Given the description of an element on the screen output the (x, y) to click on. 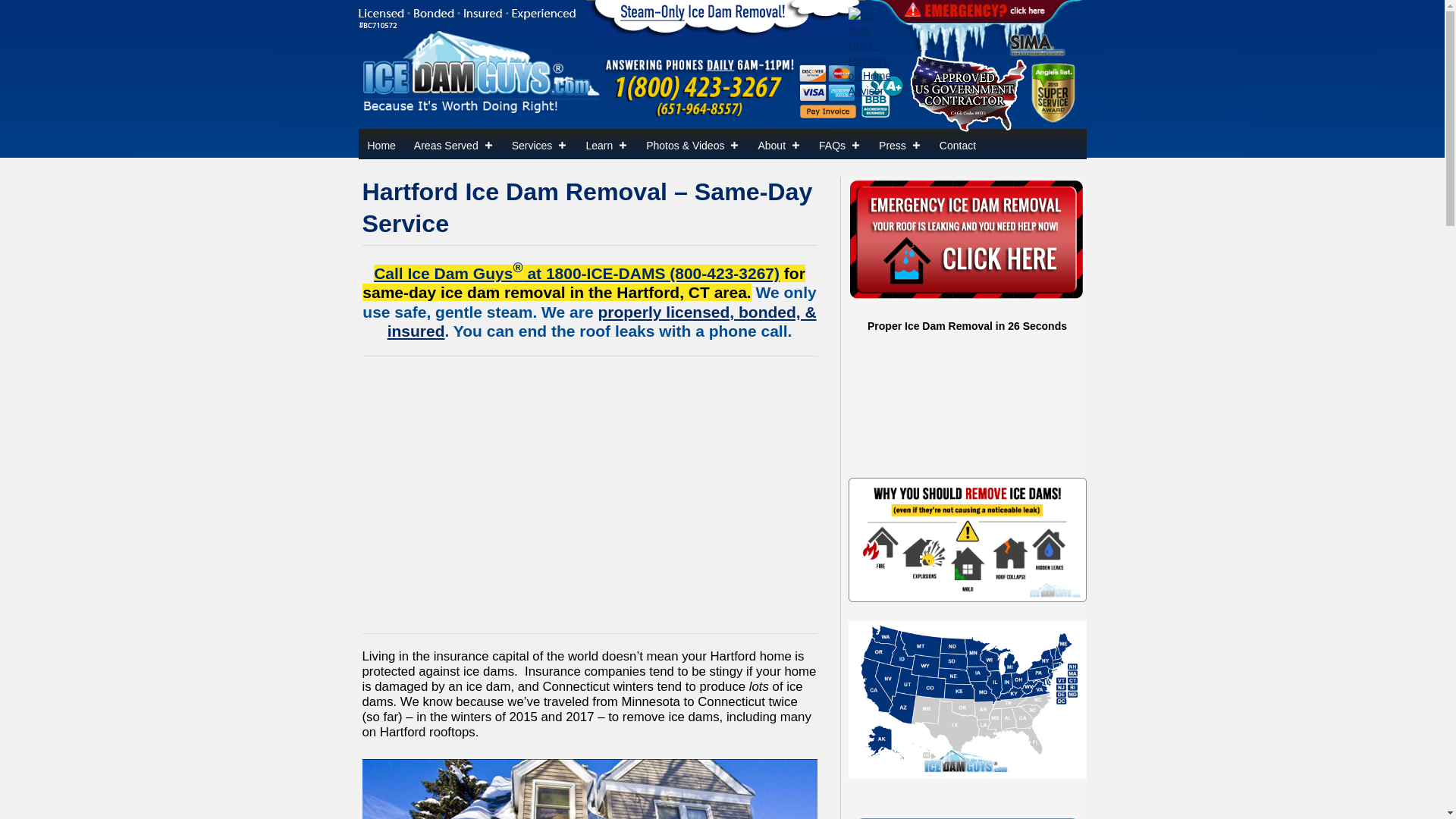
Angie's List Super Service Award winner (1052, 91)
Home (381, 143)
1-800-423-3267 (576, 272)
In the News (899, 143)
YouTube video player (589, 490)
Areas Served (453, 143)
Ice dam emergency? We can help. (966, 239)
Services (539, 143)
